Given the description of an element on the screen output the (x, y) to click on. 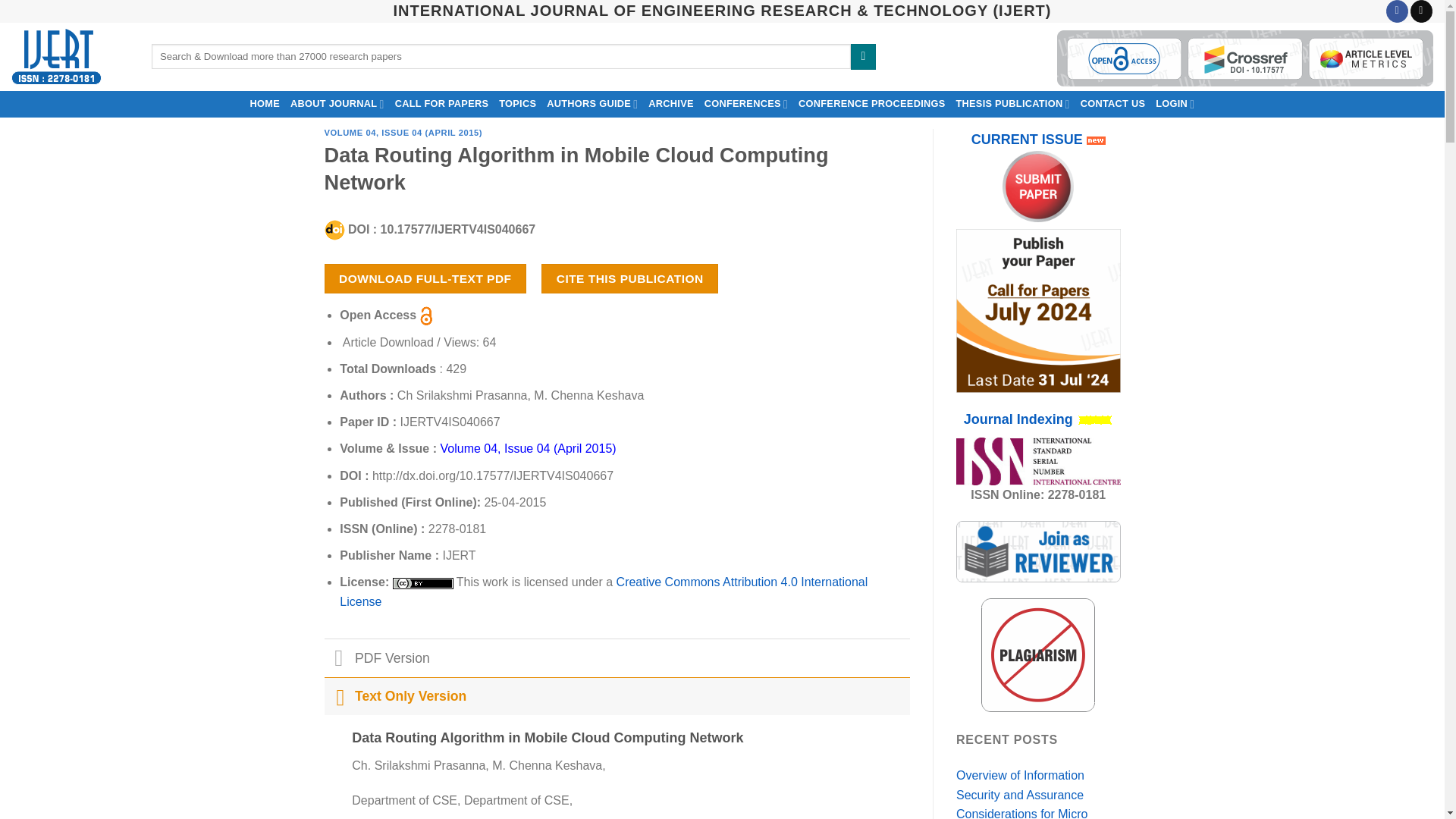
AUTHORS GUIDE (592, 103)
CONFERENCES (745, 103)
LOGIN (1174, 103)
Follow on Facebook (1396, 11)
TOPICS (517, 103)
CALL FOR PAPERS (442, 103)
CONFERENCE PROCEEDINGS (871, 103)
THESIS PUBLICATION (1012, 103)
ABOUT JOURNAL (337, 103)
Send us an email (1421, 11)
HOME (264, 103)
CONTACT US (1113, 103)
ARCHIVE (670, 103)
